Given the description of an element on the screen output the (x, y) to click on. 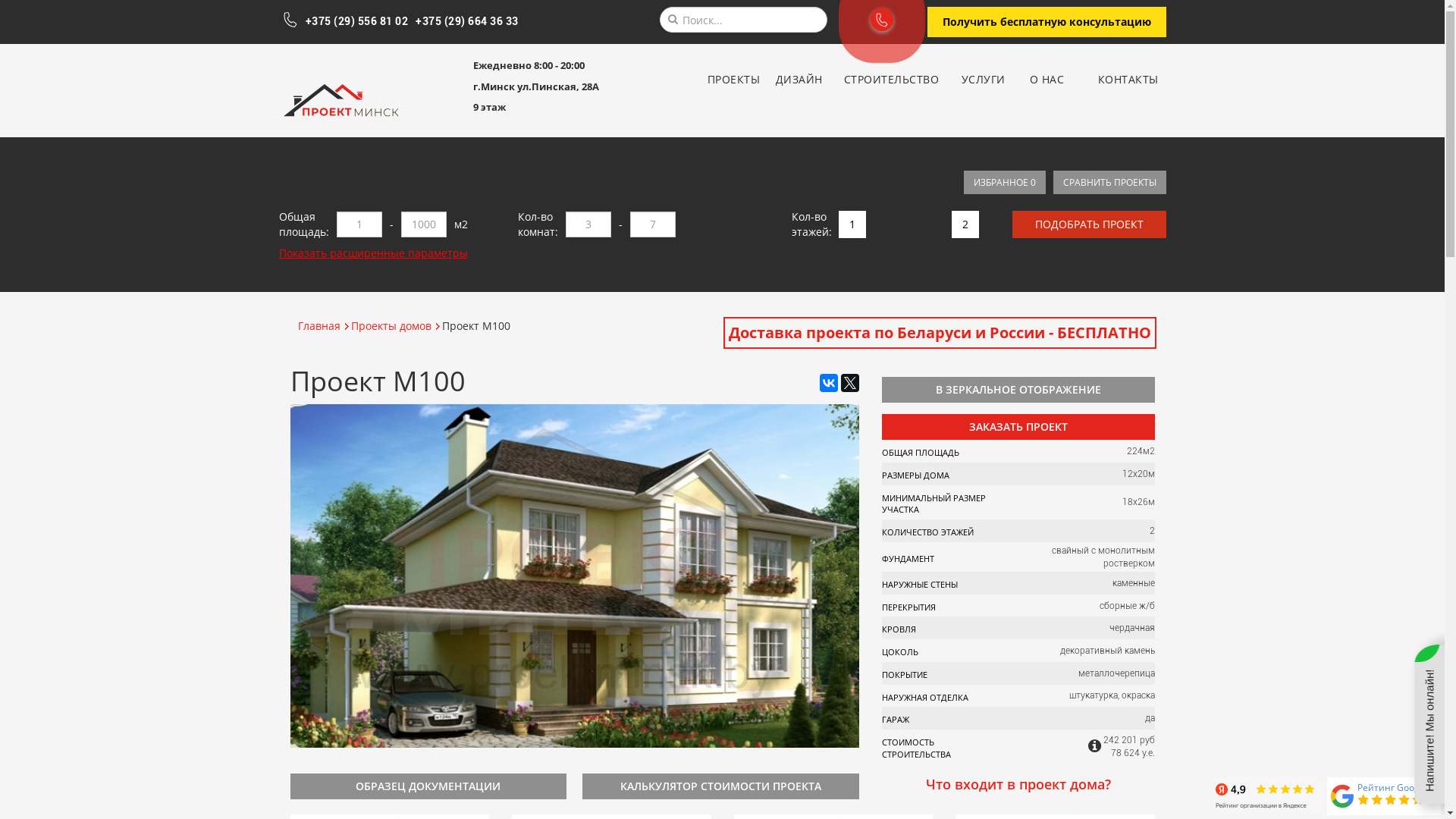
+375 (29) 664 36 33 Element type: text (466, 21)
+375 (29) 556 81 02 Element type: text (355, 21)
Twitter Element type: hover (849, 382)
